Given the description of an element on the screen output the (x, y) to click on. 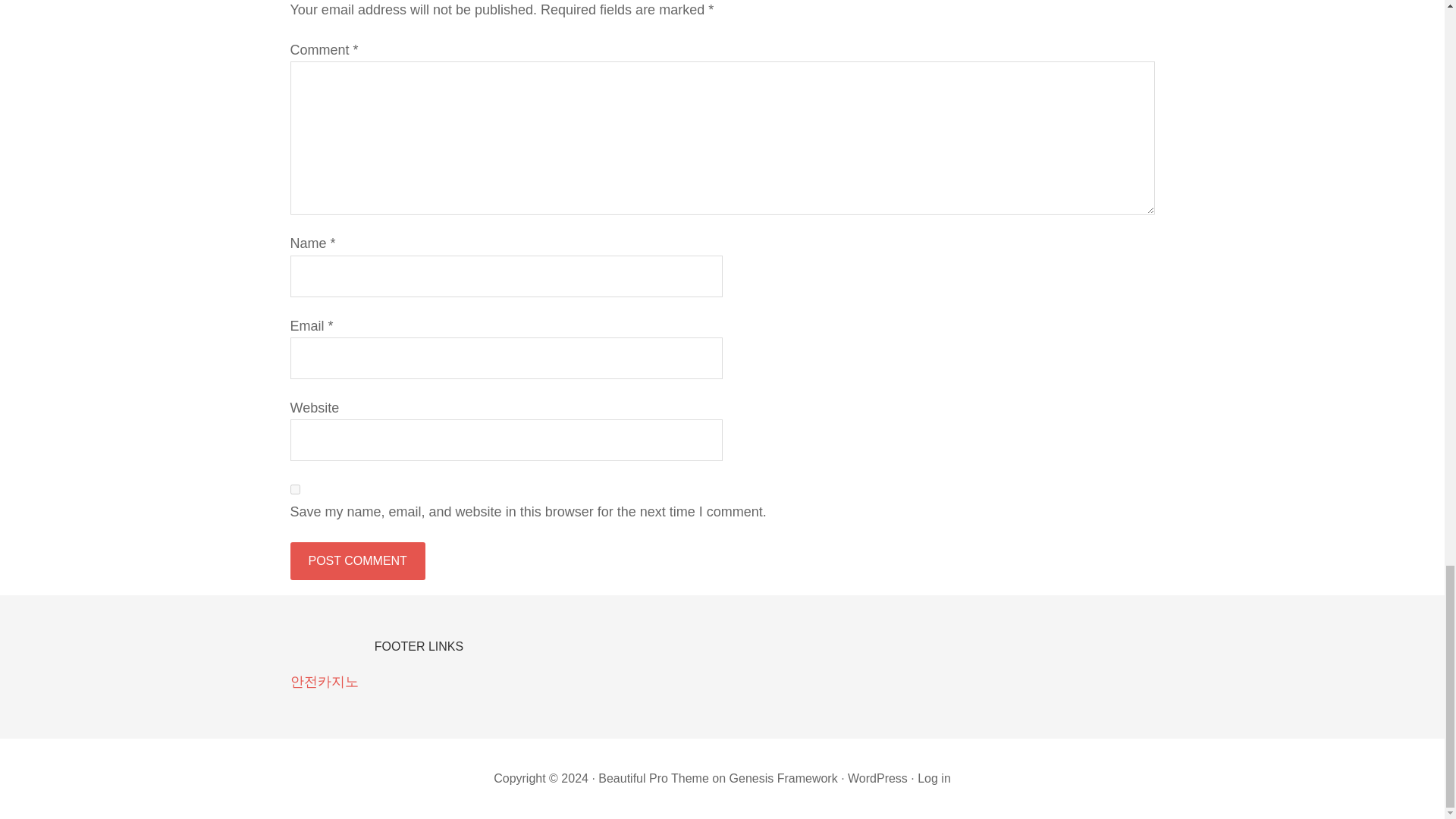
yes (294, 489)
Post Comment (357, 560)
Genesis Framework (783, 778)
Log in (933, 778)
Post Comment (357, 560)
WordPress (877, 778)
Beautiful Pro Theme (653, 778)
